Given the description of an element on the screen output the (x, y) to click on. 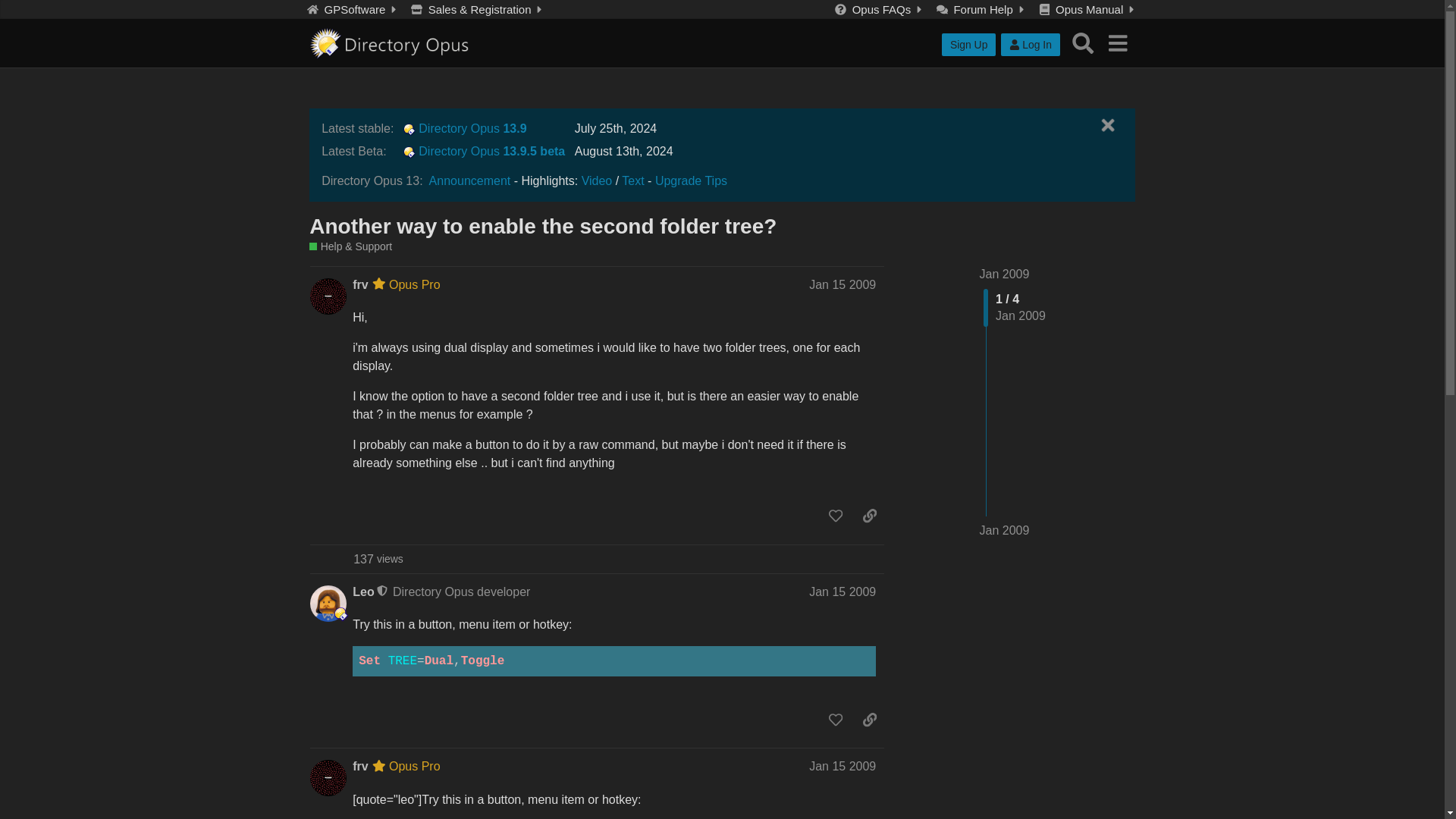
GPSoftware (353, 9)
Forum Help (981, 9)
Opus FAQs (880, 9)
